Given the description of an element on the screen output the (x, y) to click on. 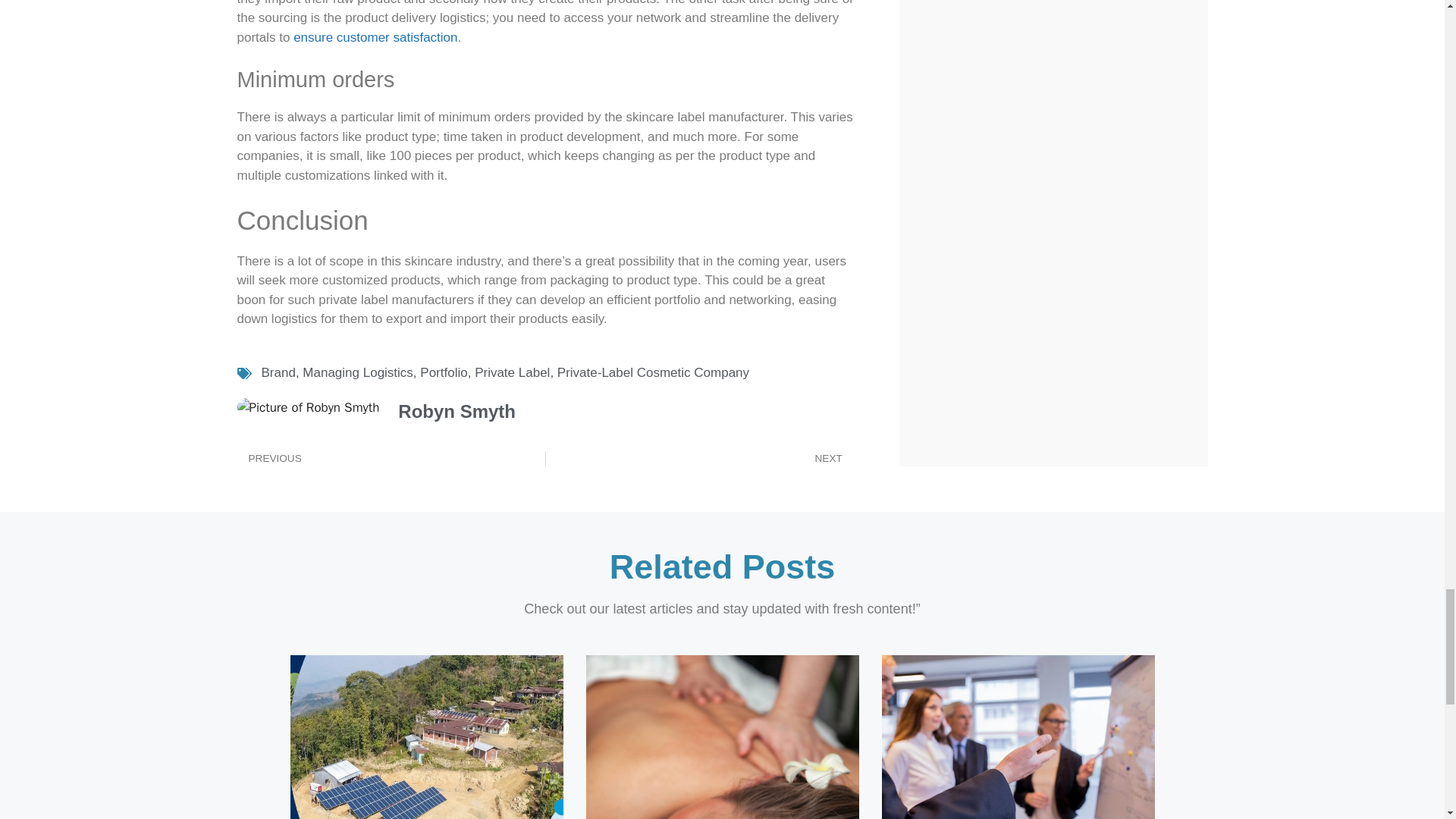
Private Label (512, 372)
ensure customer satisfaction (375, 37)
Brand (277, 372)
Private-Label Cosmetic Company (653, 372)
PREVIOUS (389, 458)
Managing Logistics (357, 372)
NEXT (699, 458)
Portfolio (443, 372)
